Given the description of an element on the screen output the (x, y) to click on. 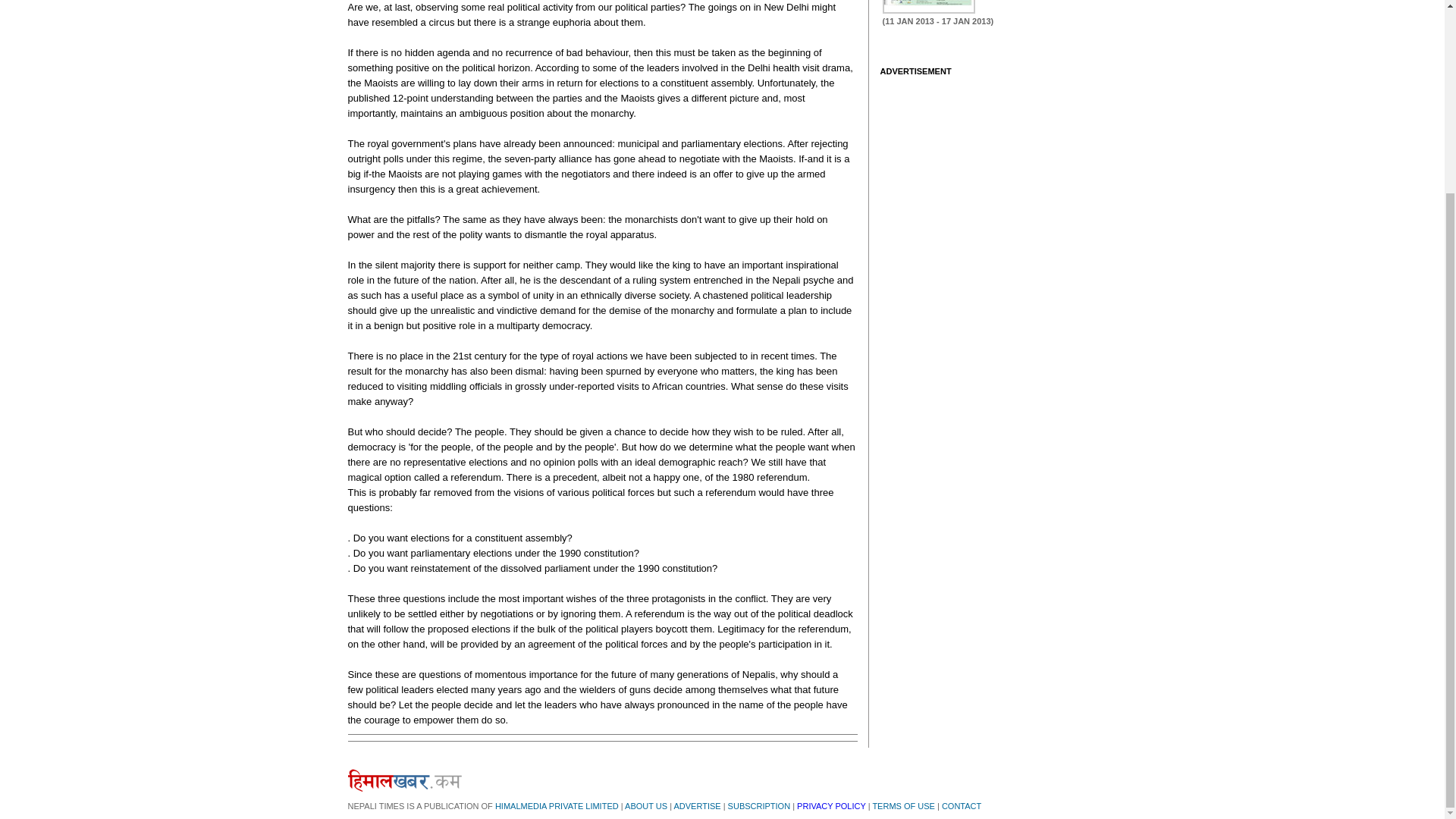
himalkhabar.com (404, 780)
638 (928, 6)
TERMS OF USE (903, 805)
SUBSCRIPTION (759, 805)
ADVERTISE (696, 805)
HIMALMEDIA PRIVATE LIMITED (556, 805)
PRIVACY POLICY (830, 805)
CONTACT (961, 805)
ABOUT US (645, 805)
